Given the description of an element on the screen output the (x, y) to click on. 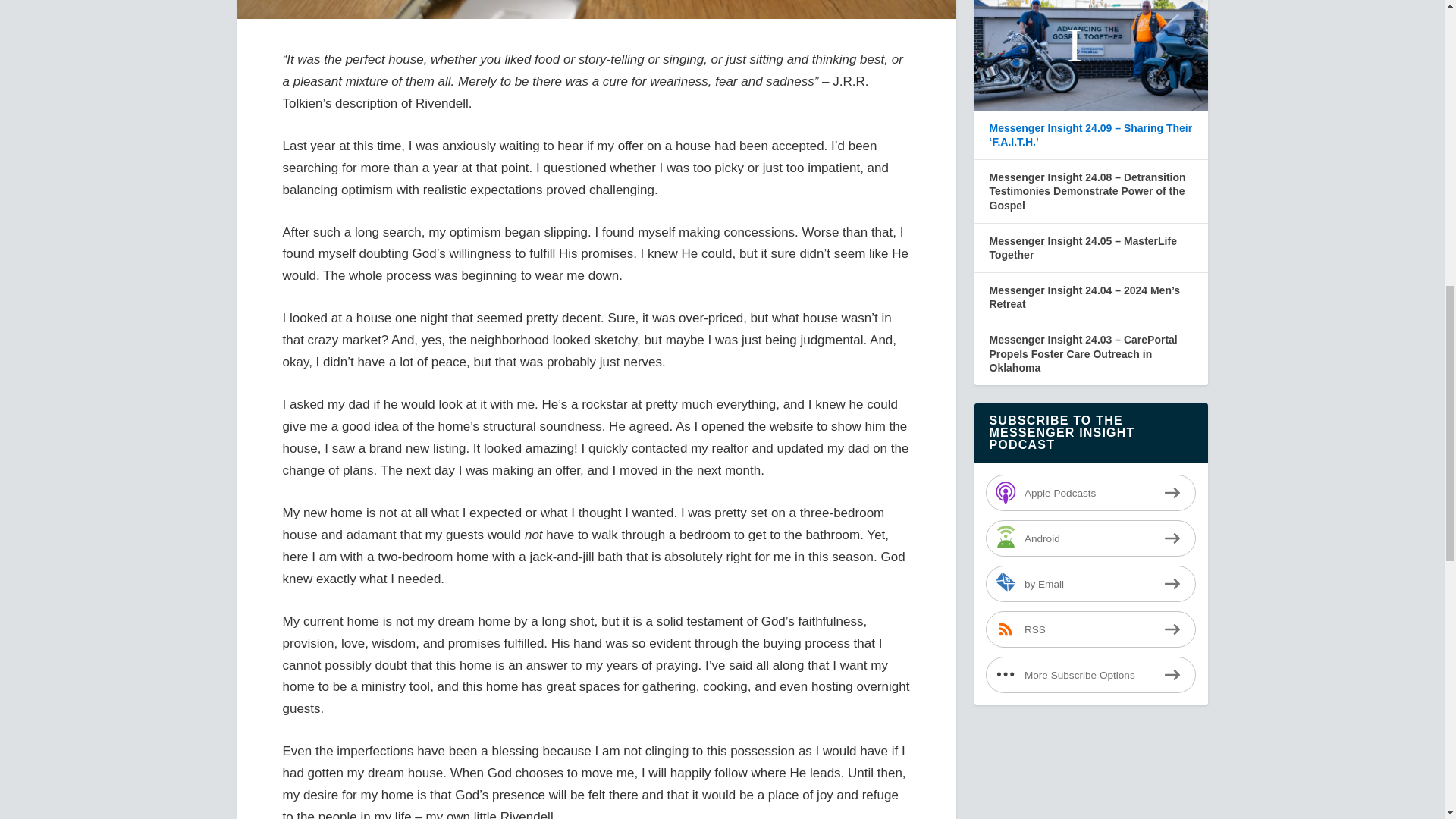
Subscribe by Email (1090, 583)
Subscribe on Android (1090, 538)
More Subscribe Options (1090, 674)
Subscribe on Apple Podcasts (1090, 493)
Subscribe via RSS (1090, 628)
